Given the description of an element on the screen output the (x, y) to click on. 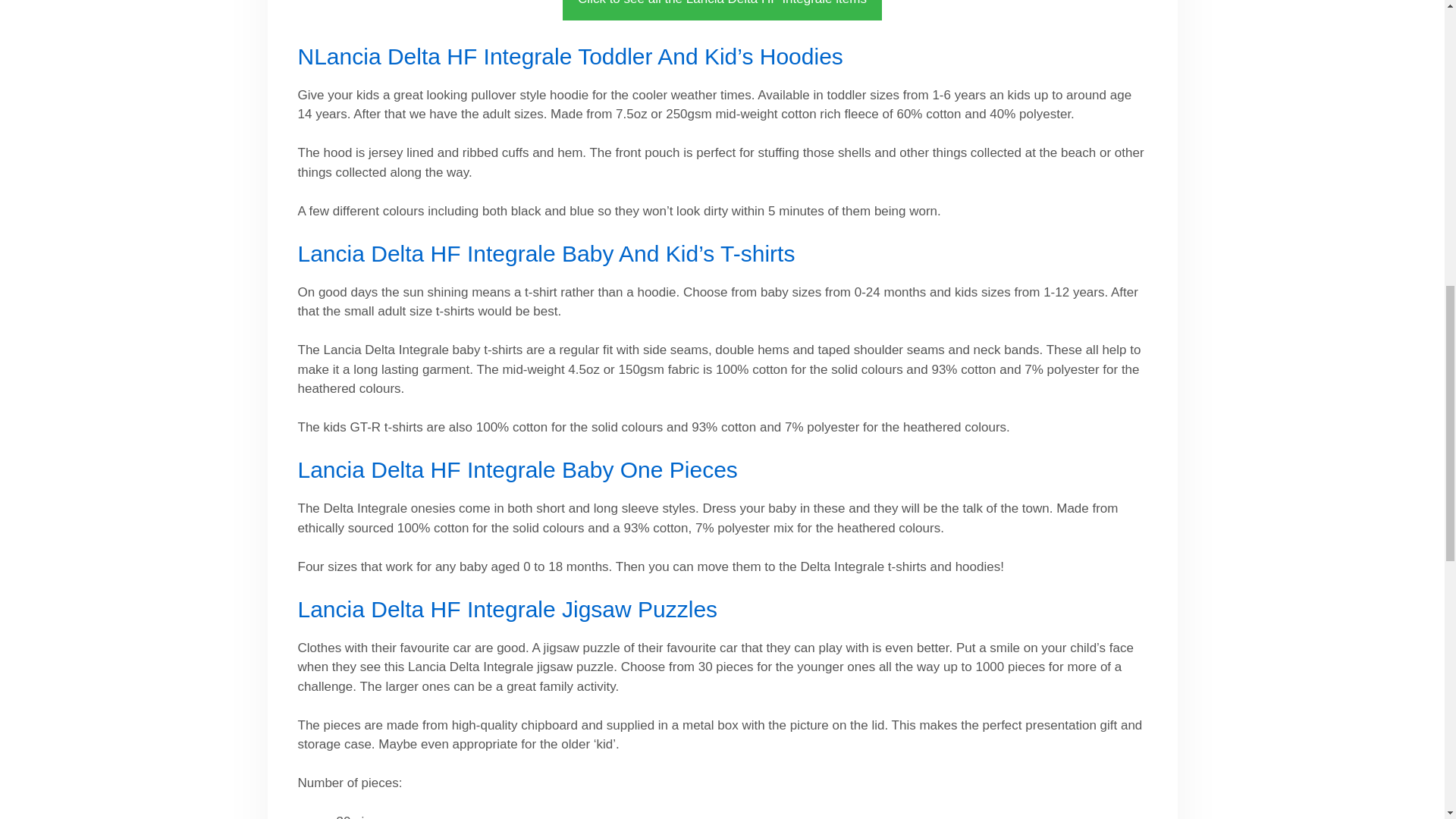
Click to see all the Lancia Delta HF Integrale items (722, 10)
